Given the description of an element on the screen output the (x, y) to click on. 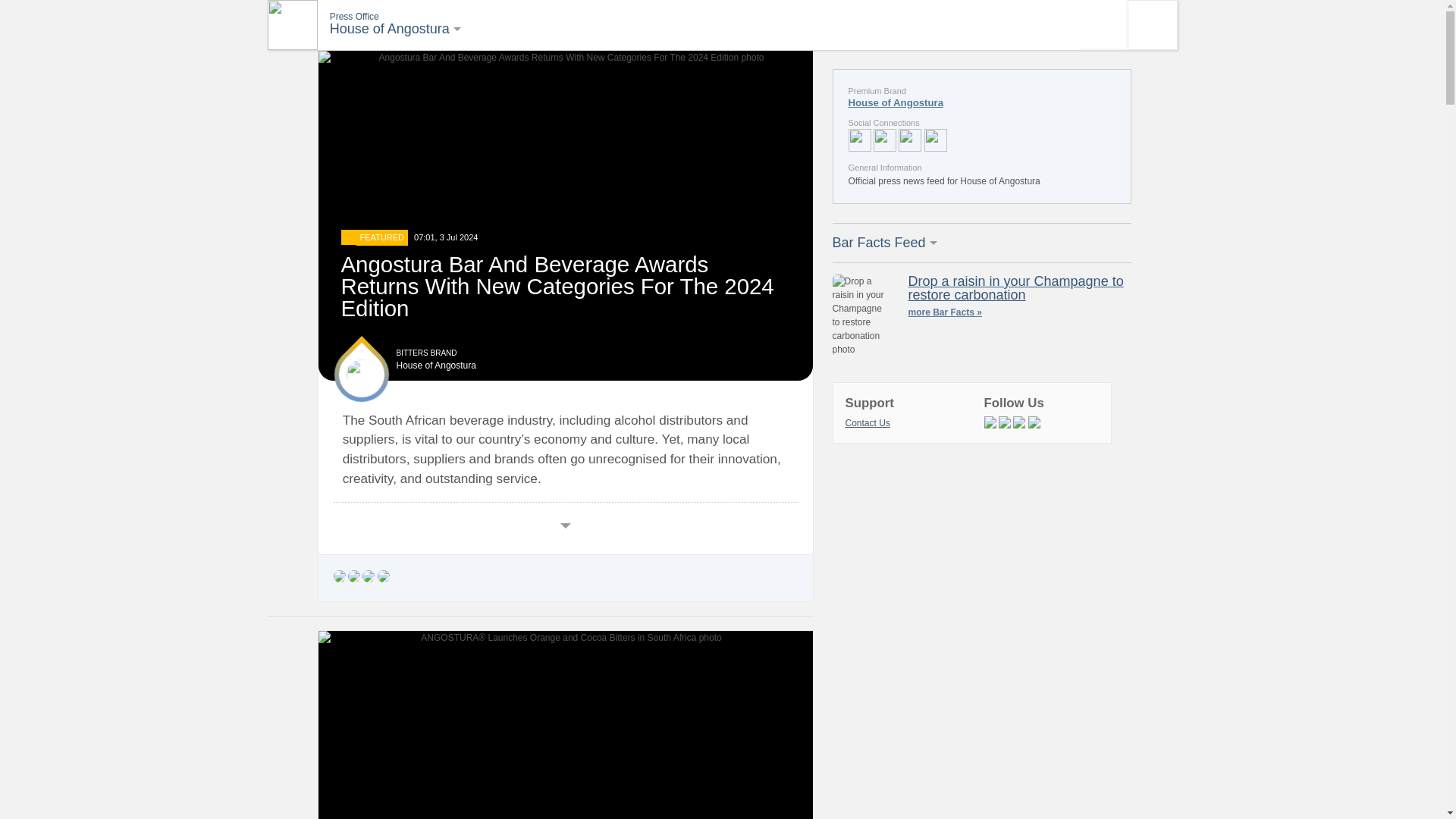
Sign-in (1151, 24)
DrinksFeed (394, 30)
Select Feed (291, 24)
